Given the description of an element on the screen output the (x, y) to click on. 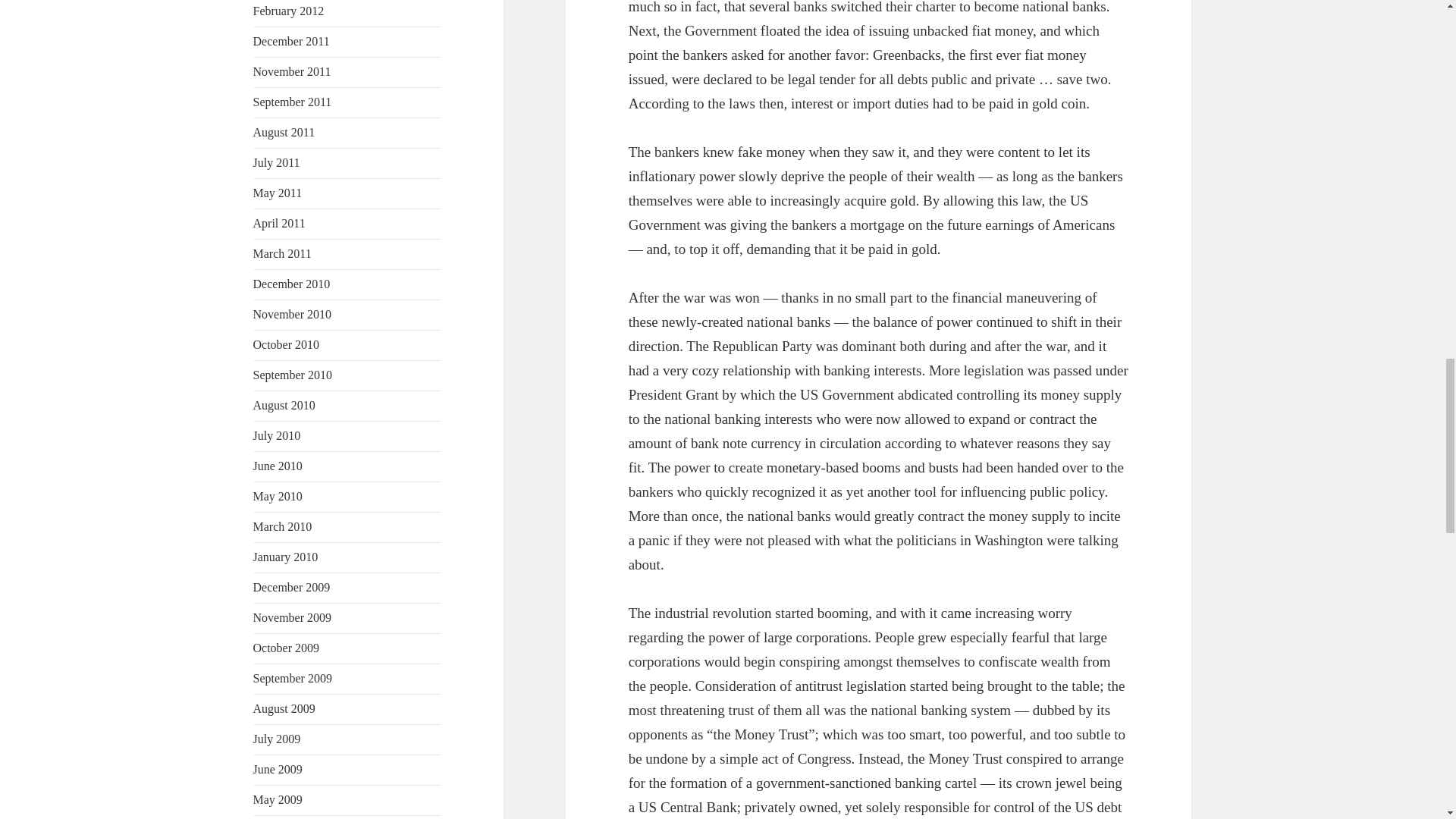
February 2012 (288, 10)
December 2011 (291, 41)
April 2011 (279, 223)
September 2011 (292, 101)
July 2011 (276, 162)
August 2011 (284, 132)
May 2011 (277, 192)
November 2011 (292, 71)
